Given the description of an element on the screen output the (x, y) to click on. 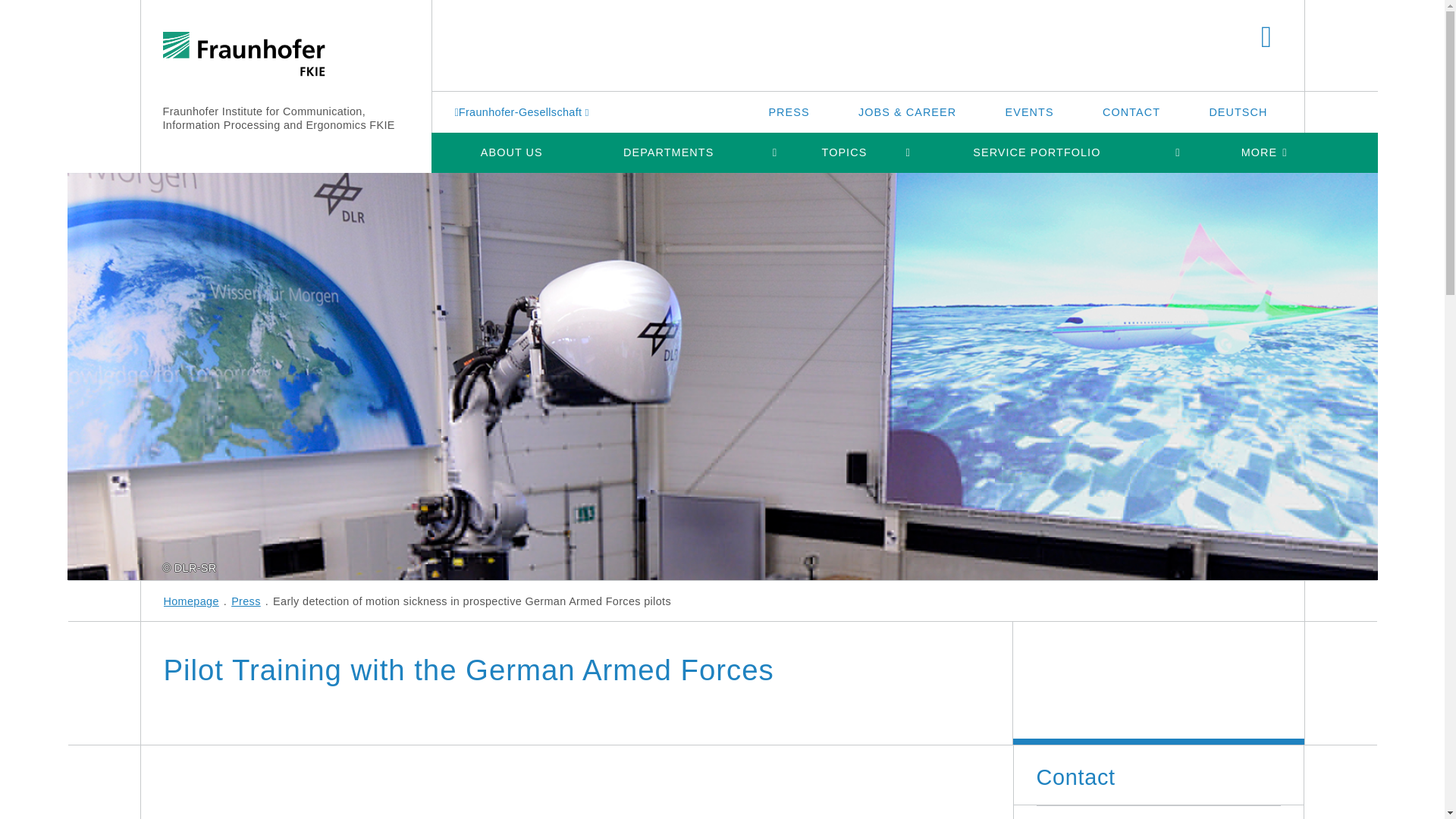
DEPARTMENTS (668, 151)
SEARCH (1266, 37)
EVENTS (1029, 111)
Fraunhofer-Gesellschaft (523, 111)
PRESS (788, 111)
DEUTSCH (1238, 111)
TOPICS (844, 151)
CONTACT (1131, 111)
ABOUT US (511, 151)
